Given the description of an element on the screen output the (x, y) to click on. 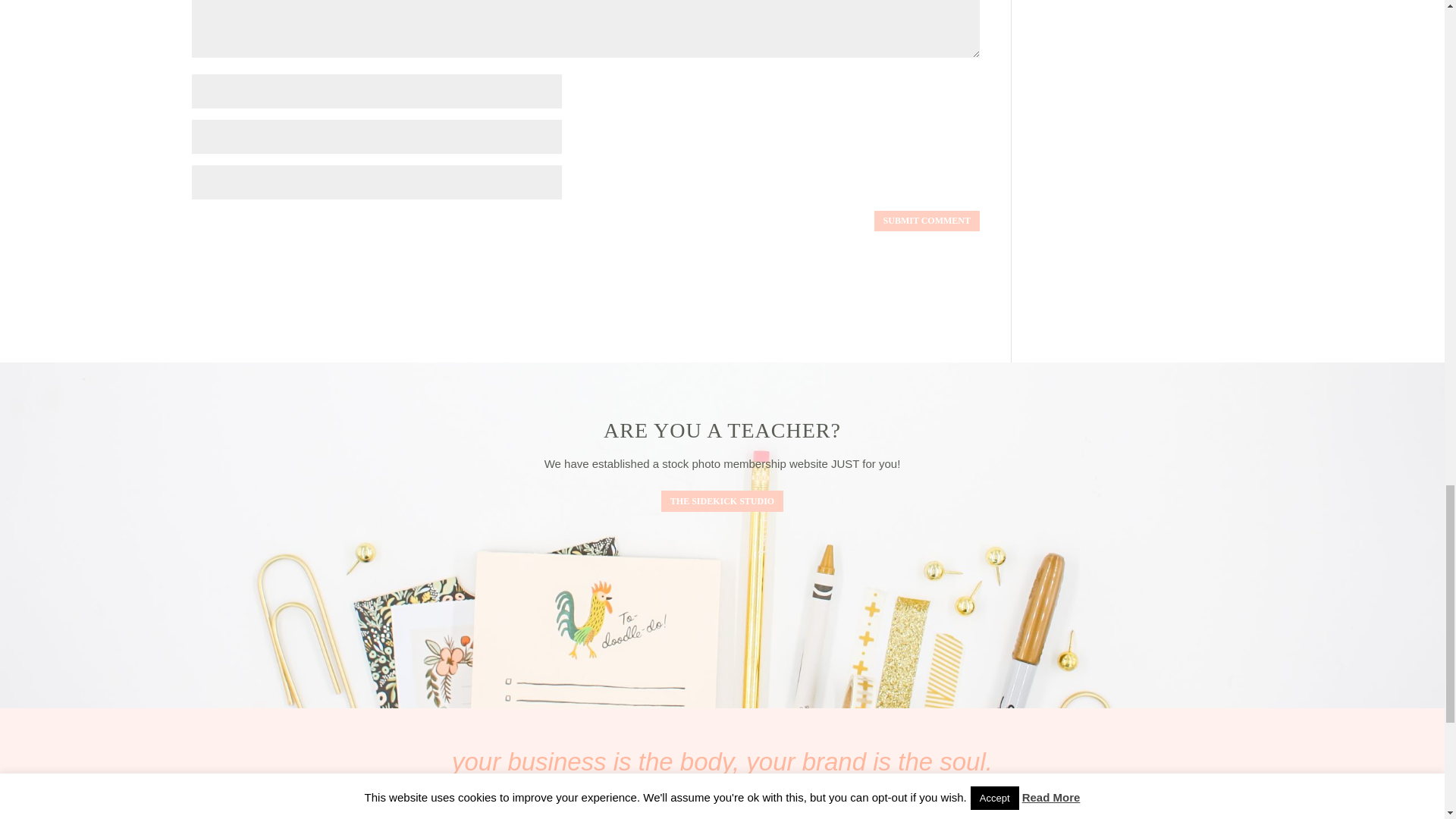
Submit Comment (927, 220)
